Given the description of an element on the screen output the (x, y) to click on. 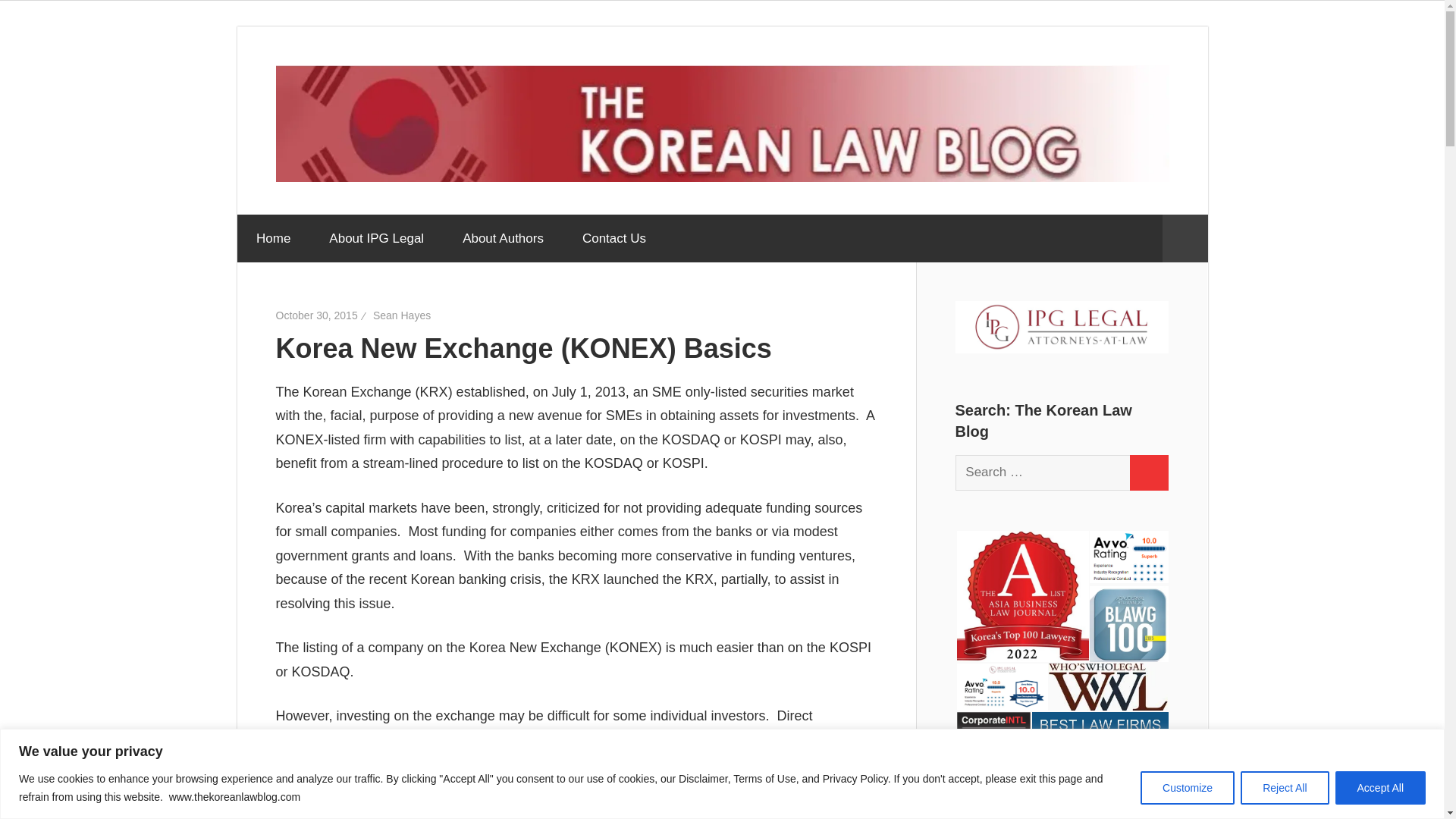
4:12 PM (317, 315)
October 30, 2015 (317, 315)
Accept All (1380, 786)
Customize (1187, 786)
About Authors (503, 238)
Contact Us (613, 238)
About IPG Legal (377, 238)
Sean Hayes (401, 315)
Home (271, 238)
View all posts by Sean Hayes (401, 315)
Reject All (1283, 786)
